Given the description of an element on the screen output the (x, y) to click on. 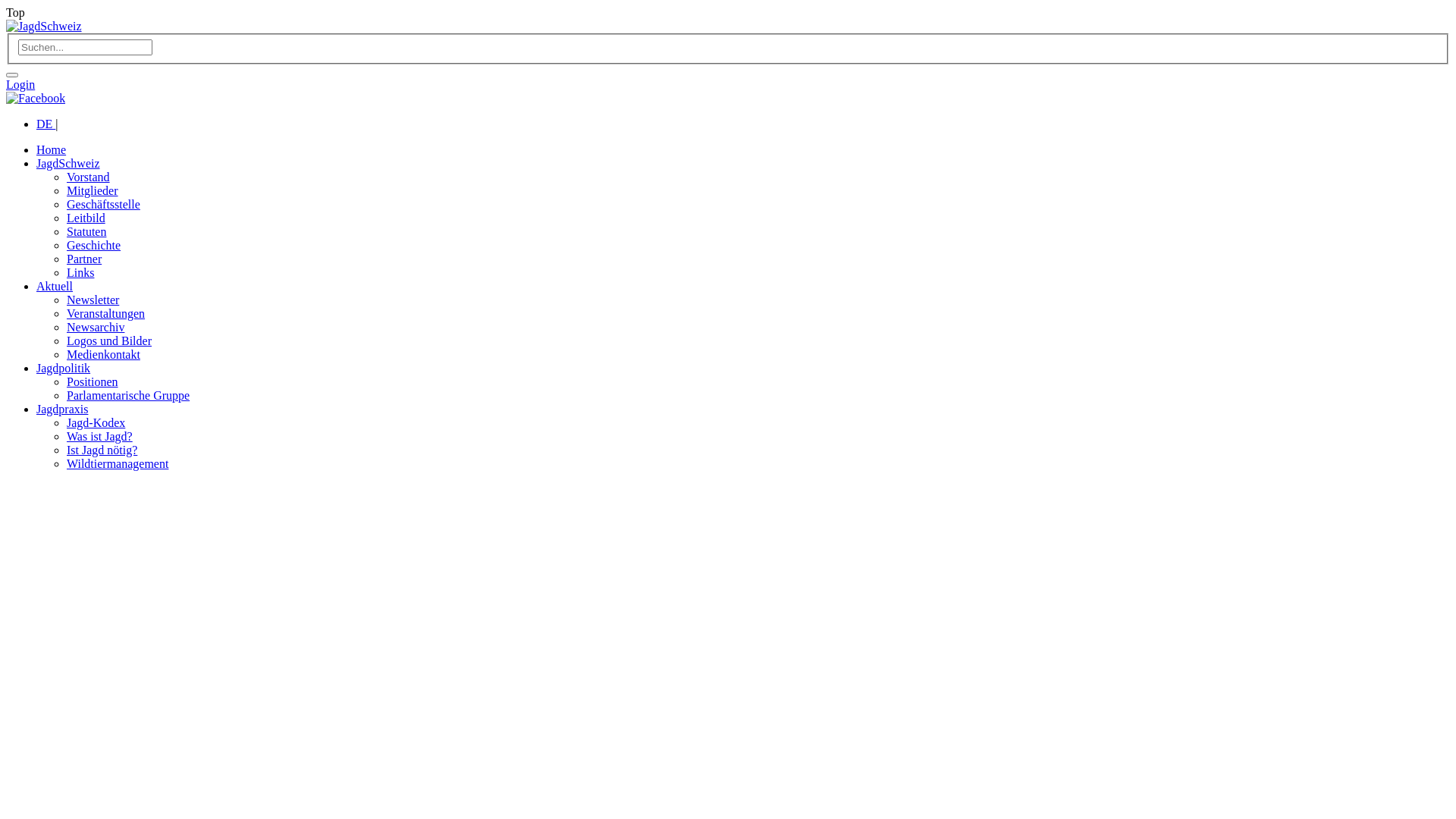
JagdSchweiz Element type: hover (43, 26)
Statuten Element type: text (86, 231)
Wildtiermanagement Element type: text (117, 463)
Aktuell Element type: text (54, 285)
Vorstand Element type: text (87, 176)
Newsletter Element type: text (92, 299)
Home Element type: text (50, 149)
Geschichte Element type: text (93, 244)
Leitbild Element type: text (85, 217)
Logos und Bilder Element type: text (108, 340)
Login Element type: text (20, 84)
Partner Element type: text (83, 258)
Positionen Element type: text (92, 381)
Mitglieder Element type: text (92, 190)
Parlamentarische Gruppe Element type: text (127, 395)
Links Element type: text (80, 272)
Newsarchiv Element type: text (95, 326)
Jagd-Kodex Element type: text (95, 422)
JagdSchweiz Element type: text (68, 162)
Jagdpraxis Element type: text (61, 408)
Jagdpolitik Element type: text (63, 367)
DE Element type: text (45, 123)
Medienkontakt Element type: text (103, 354)
Was ist Jagd? Element type: text (99, 435)
Veranstaltungen Element type: text (105, 313)
